Given the description of an element on the screen output the (x, y) to click on. 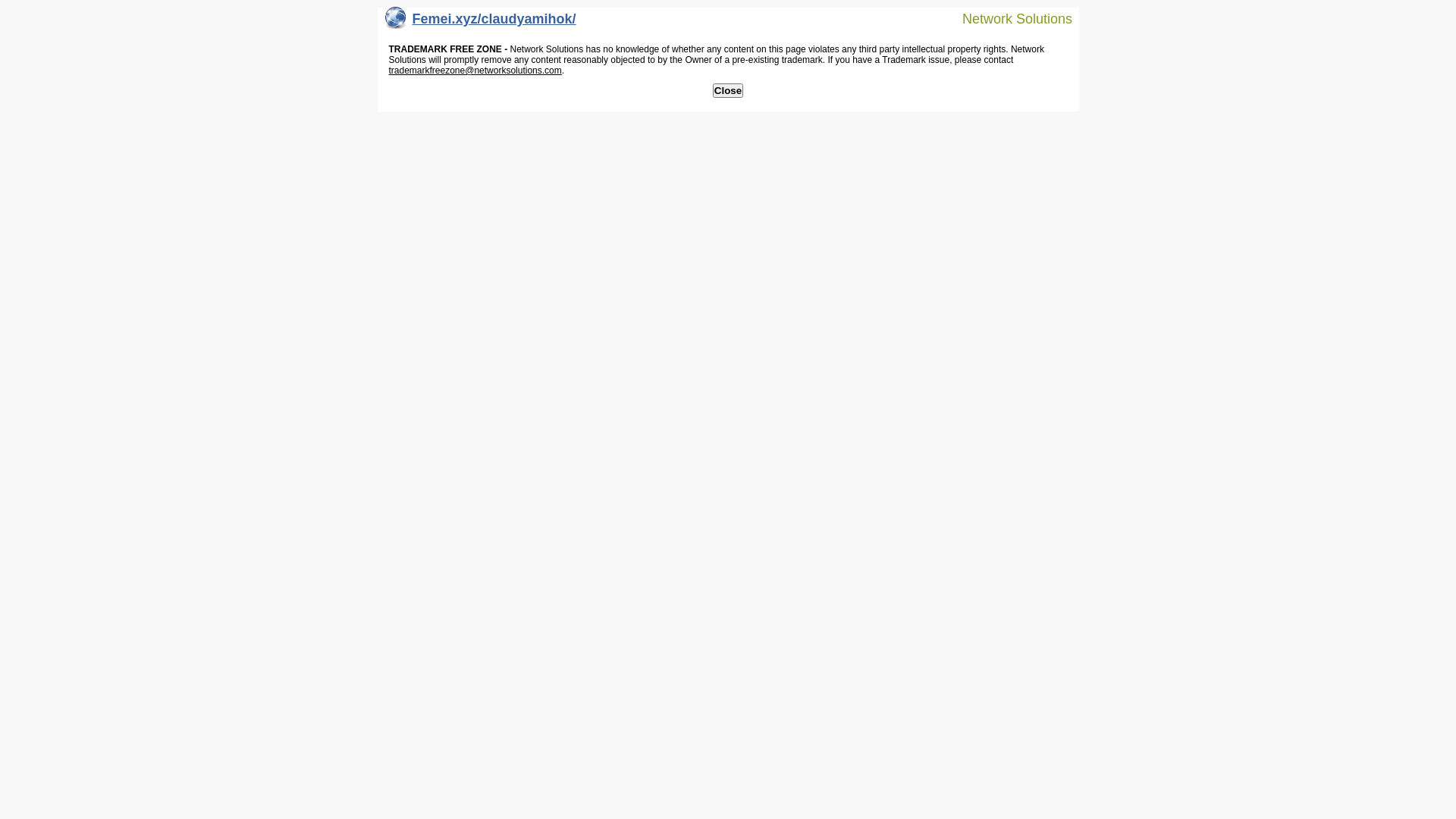
Close Element type: text (727, 90)
trademarkfreezone@networksolutions.com Element type: text (474, 70)
Network Solutions Element type: text (1007, 17)
Femei.xyz/claudyamihok/ Element type: text (480, 21)
